Given the description of an element on the screen output the (x, y) to click on. 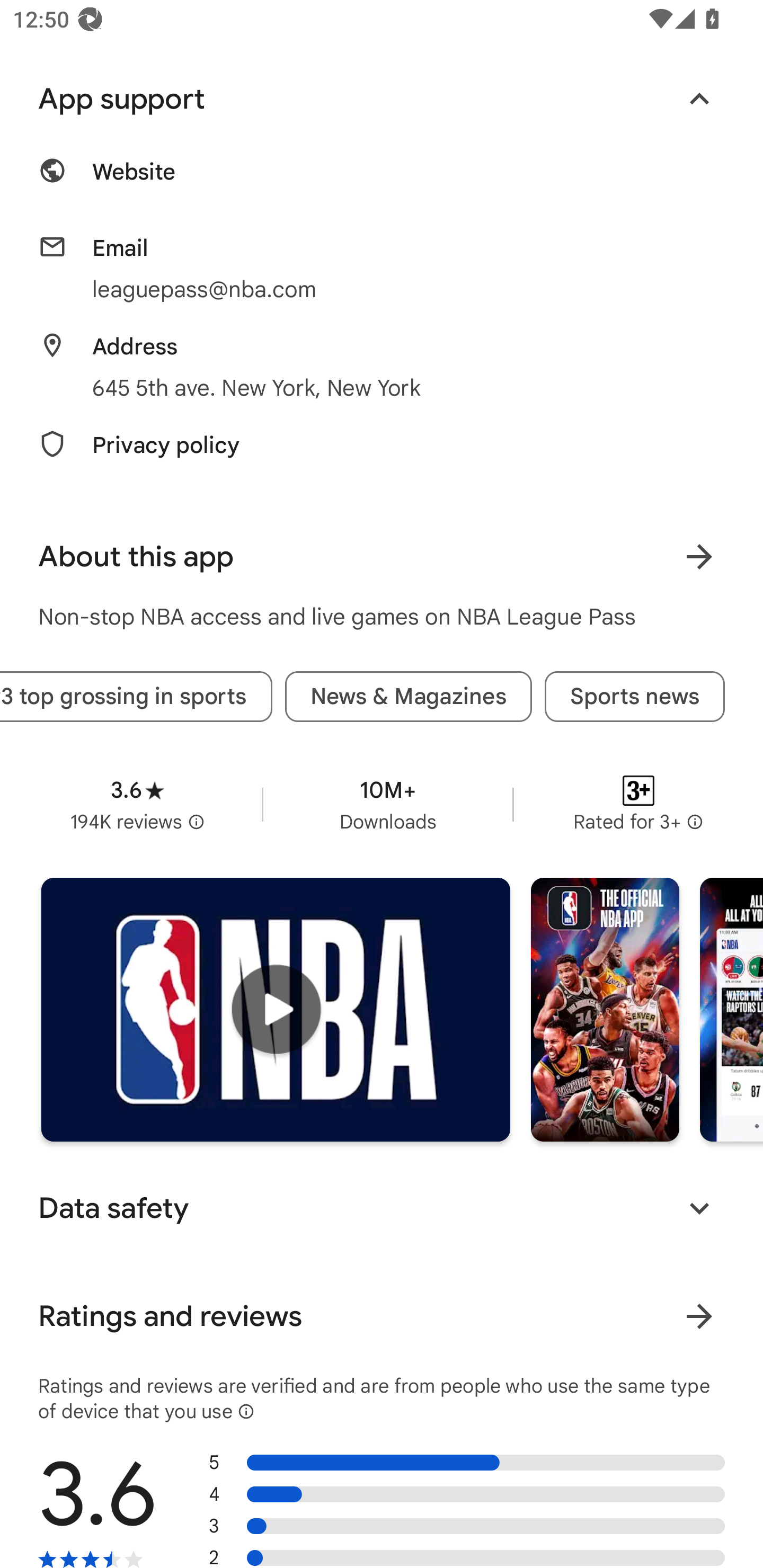
App support Collapse (381, 99)
Collapse (699, 99)
Website (381, 181)
Email leaguepass@nba.com (381, 268)
Address 645 5th ave. New York, New York (381, 367)
Privacy policy (381, 455)
About this app Learn more About this app (381, 556)
Learn more About this app (699, 556)
#3 top grossing in sports tag (136, 696)
News & Magazines tag (408, 696)
Sports news tag (634, 696)
Average rating 3.6 stars in 194 thousand reviews (137, 805)
Content rating Rated for 3+ (638, 805)
Play trailer for "NBA: Live Games & Scores" (275, 1009)
Screenshot "1" of "7" (605, 1009)
Data safety Expand (381, 1207)
Expand (699, 1207)
Ratings and reviews View all ratings and reviews (381, 1316)
View all ratings and reviews (699, 1315)
